Given the description of an element on the screen output the (x, y) to click on. 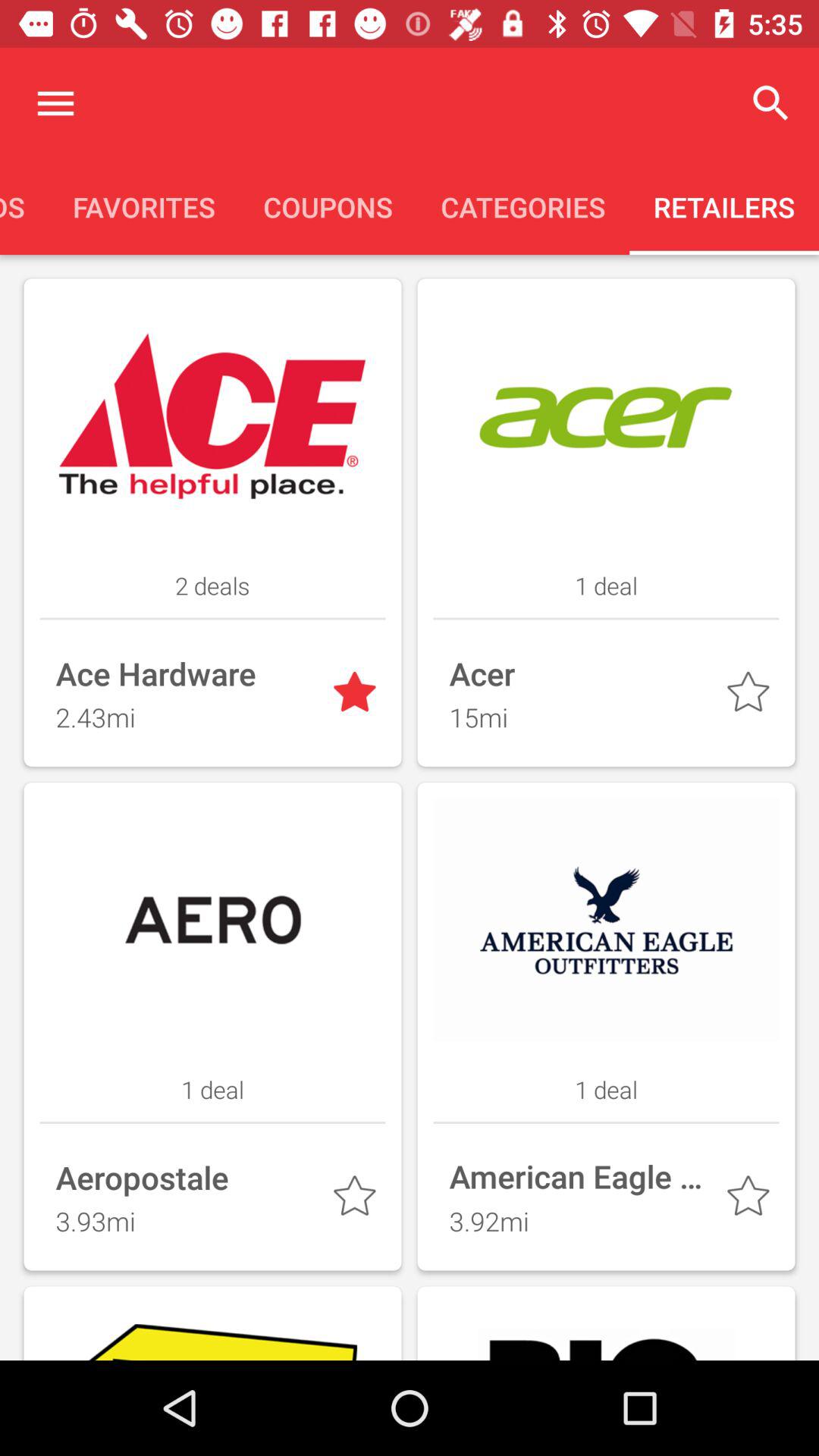
a button for adding to favorites (357, 695)
